Given the description of an element on the screen output the (x, y) to click on. 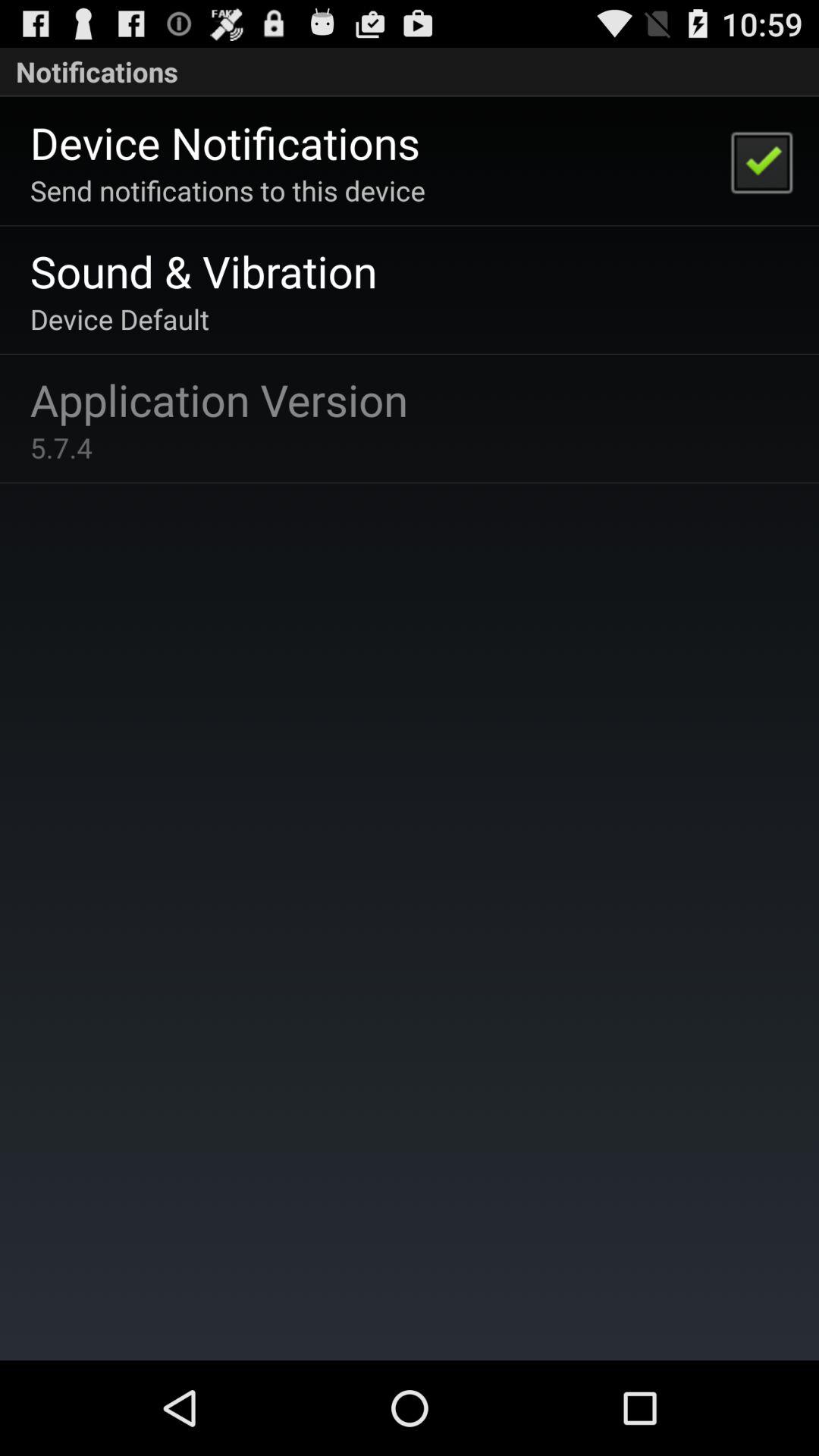
flip to 5.7.4 (61, 447)
